Given the description of an element on the screen output the (x, y) to click on. 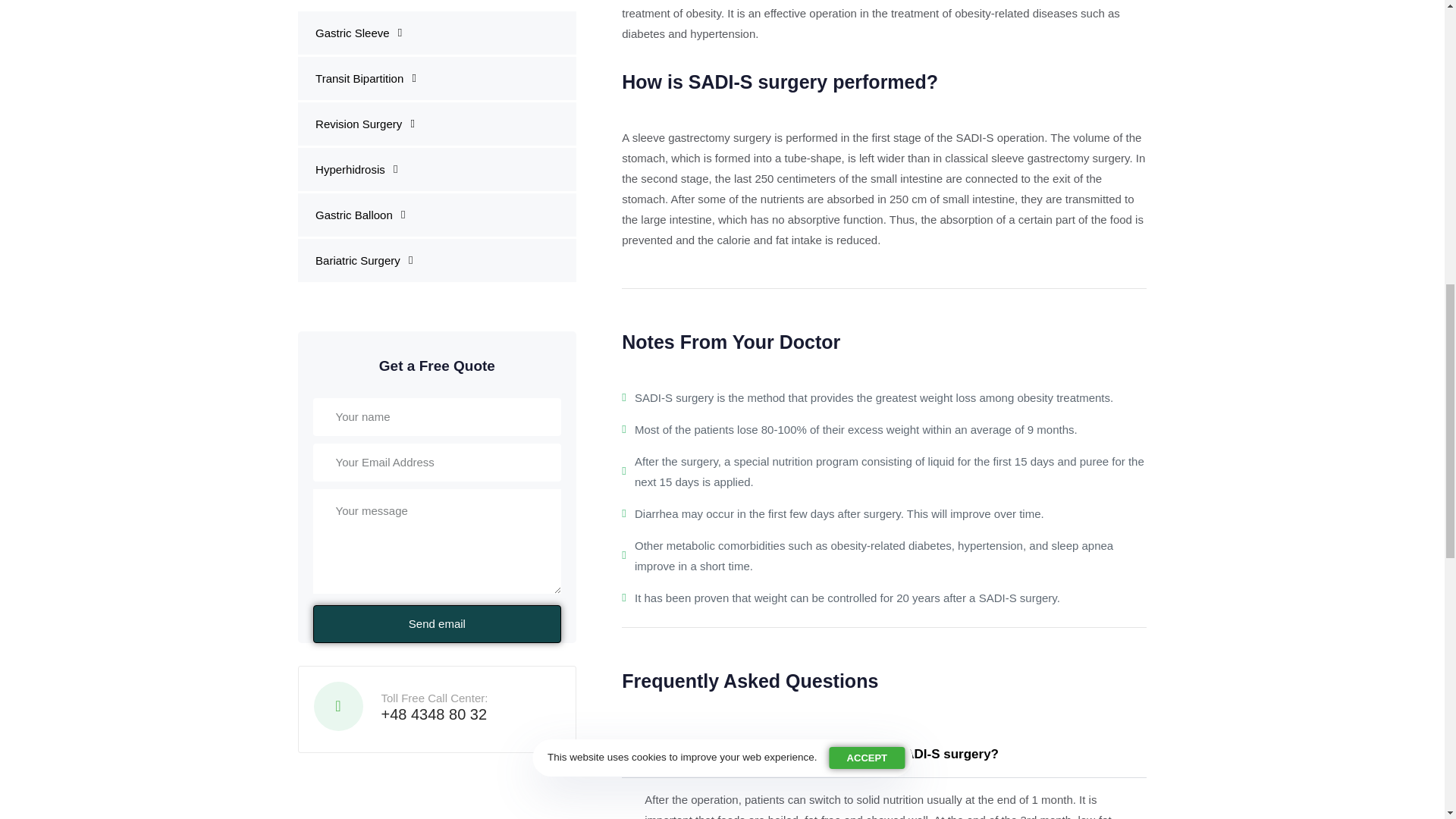
Send email (436, 117)
